Given the description of an element on the screen output the (x, y) to click on. 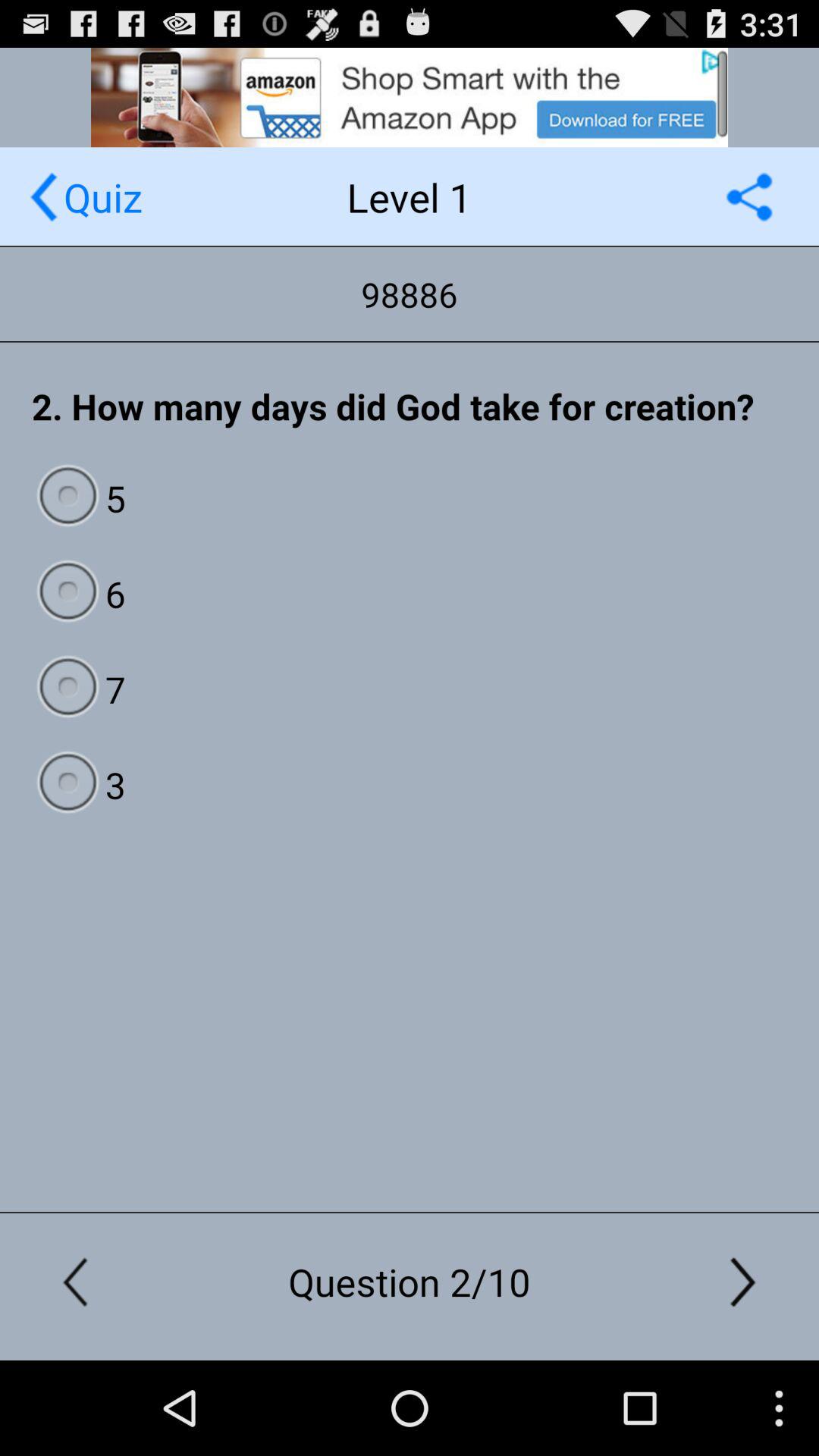
go to previous (43, 196)
